Given the description of an element on the screen output the (x, y) to click on. 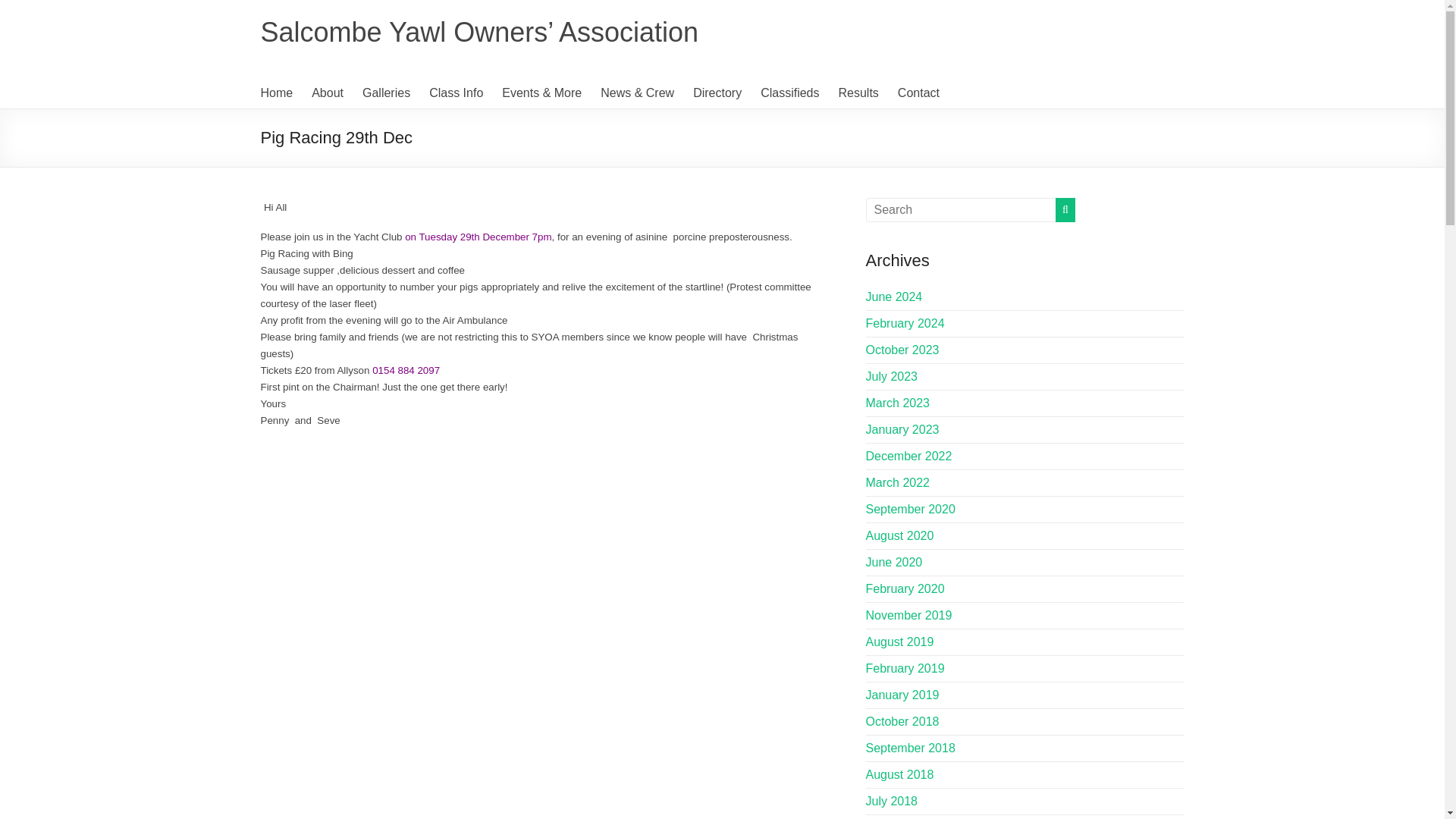
Galleries (386, 92)
Class Info (456, 92)
0154 884 2097 (405, 369)
Results (858, 92)
Home (277, 92)
Contact (918, 92)
Directory (717, 92)
Classifieds (789, 92)
About (327, 92)
on Tuesday 29th December 7pm (477, 236)
